Given the description of an element on the screen output the (x, y) to click on. 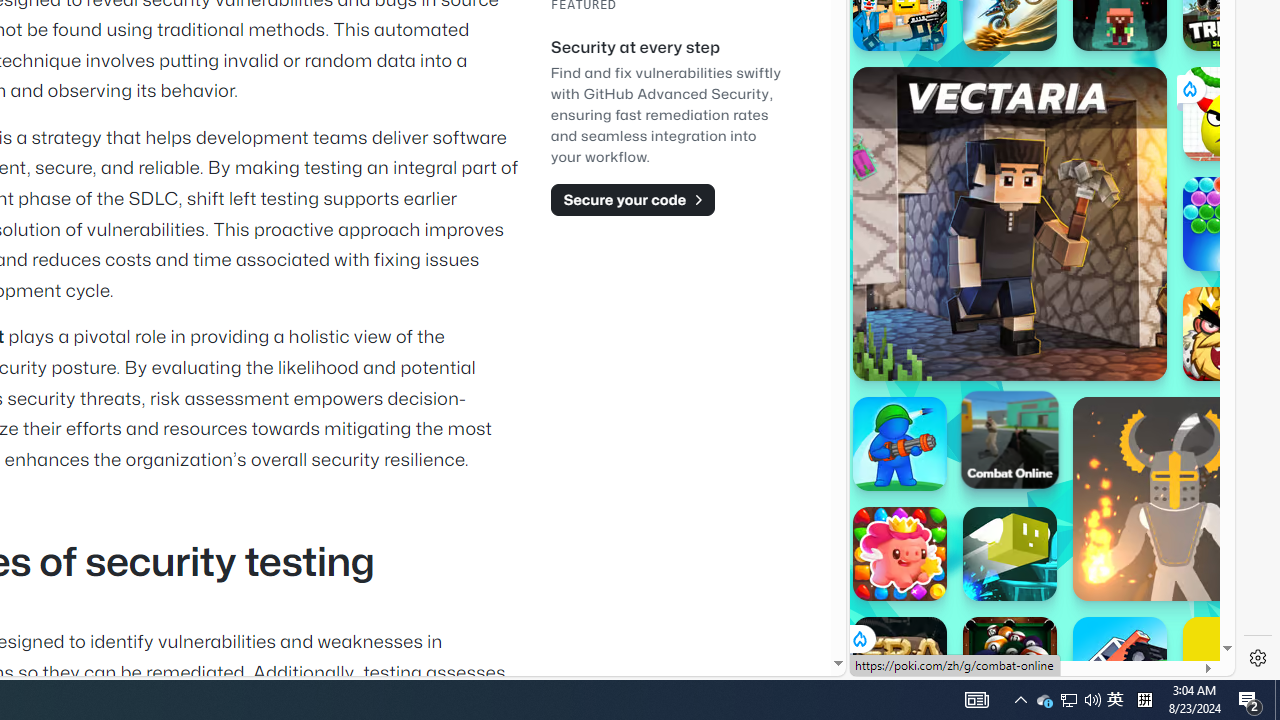
Match Arena (899, 553)
BombHopper.io BombHopper.io (1009, 553)
SUBWAY SURFERS - Play Online for Free! | Poki (1034, 624)
Hills of Steel Hills of Steel poki.com (943, 245)
Poki (1034, 606)
Hills of Steel (943, 200)
Combat Reloaded Combat Reloaded poki.com (1092, 245)
Like a King Like a King (1229, 333)
War Master (899, 443)
Vectaria.io (1009, 223)
Secure your code (632, 199)
